Given the description of an element on the screen output the (x, y) to click on. 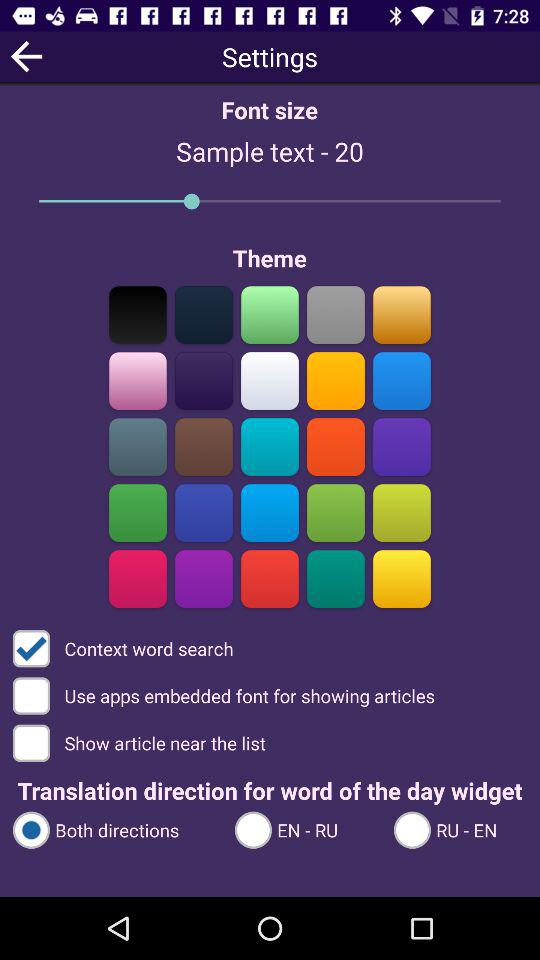
color option (269, 446)
